Given the description of an element on the screen output the (x, y) to click on. 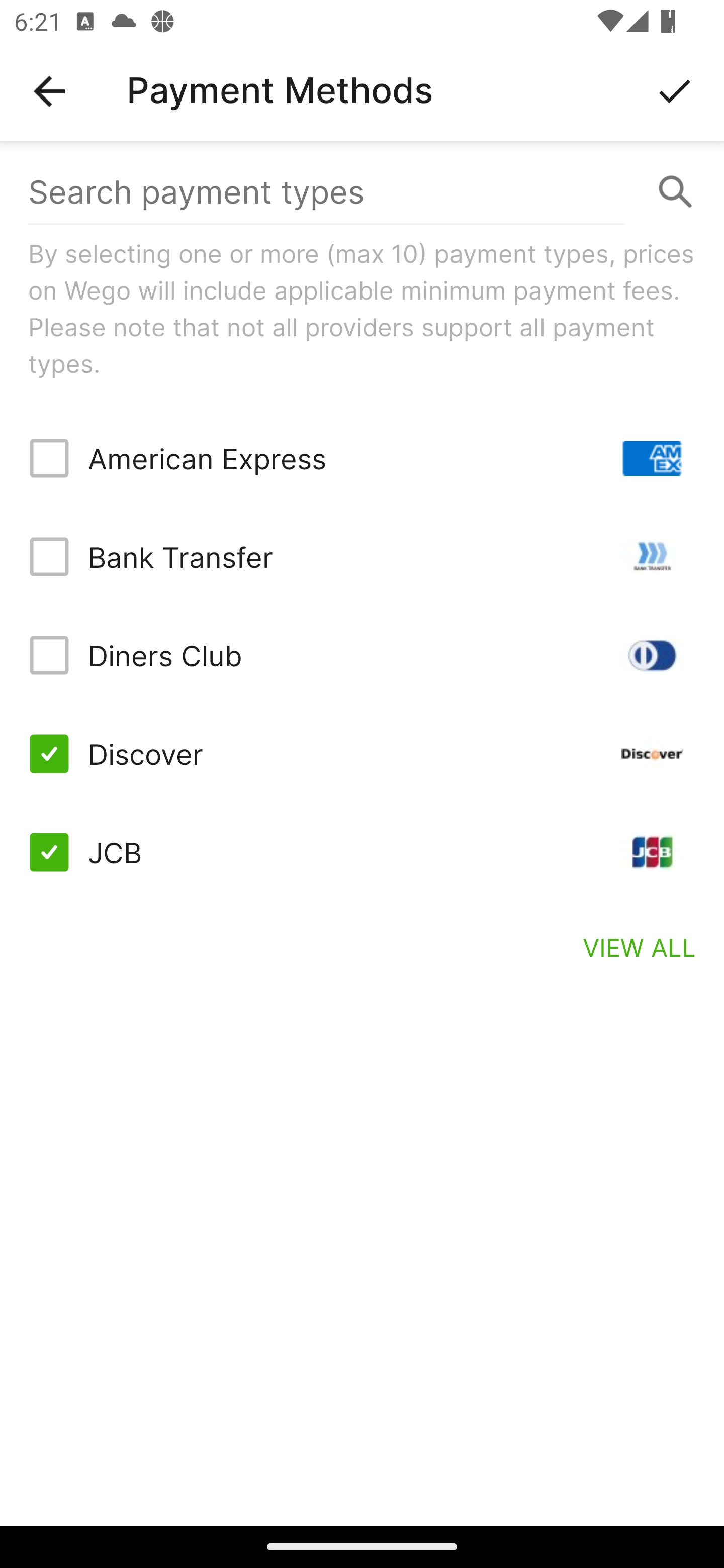
Search payment types  (361, 191)
American Express (362, 458)
Bank Transfer (362, 557)
Diners Club (362, 655)
Discover (362, 753)
JCB (362, 851)
VIEW ALL (639, 946)
